Given the description of an element on the screen output the (x, y) to click on. 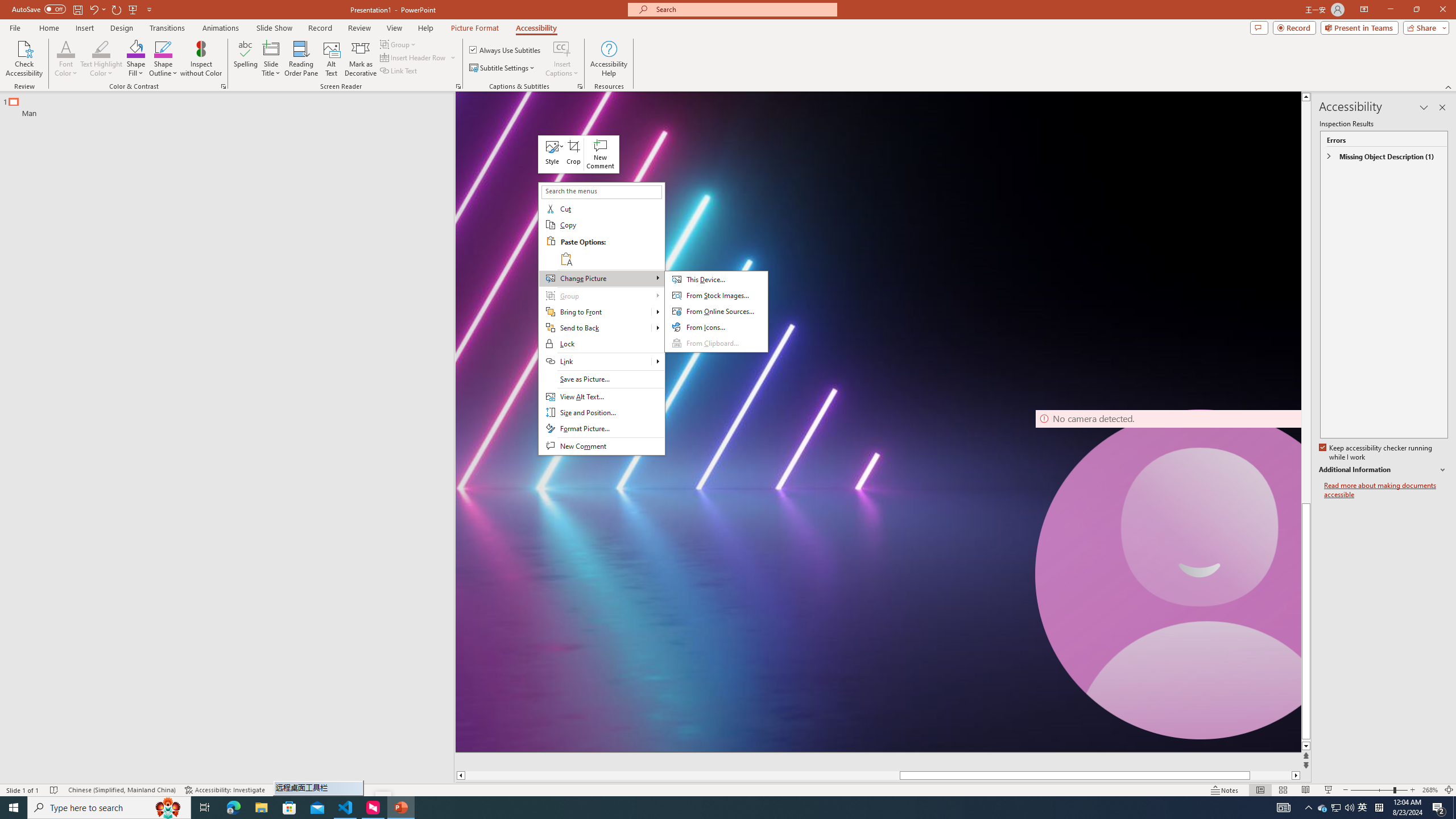
Save as Picture... (600, 379)
Size and Position... (600, 412)
From Clipboard... (716, 343)
From Icons... (716, 327)
From Online Sources... (716, 311)
